Given the description of an element on the screen output the (x, y) to click on. 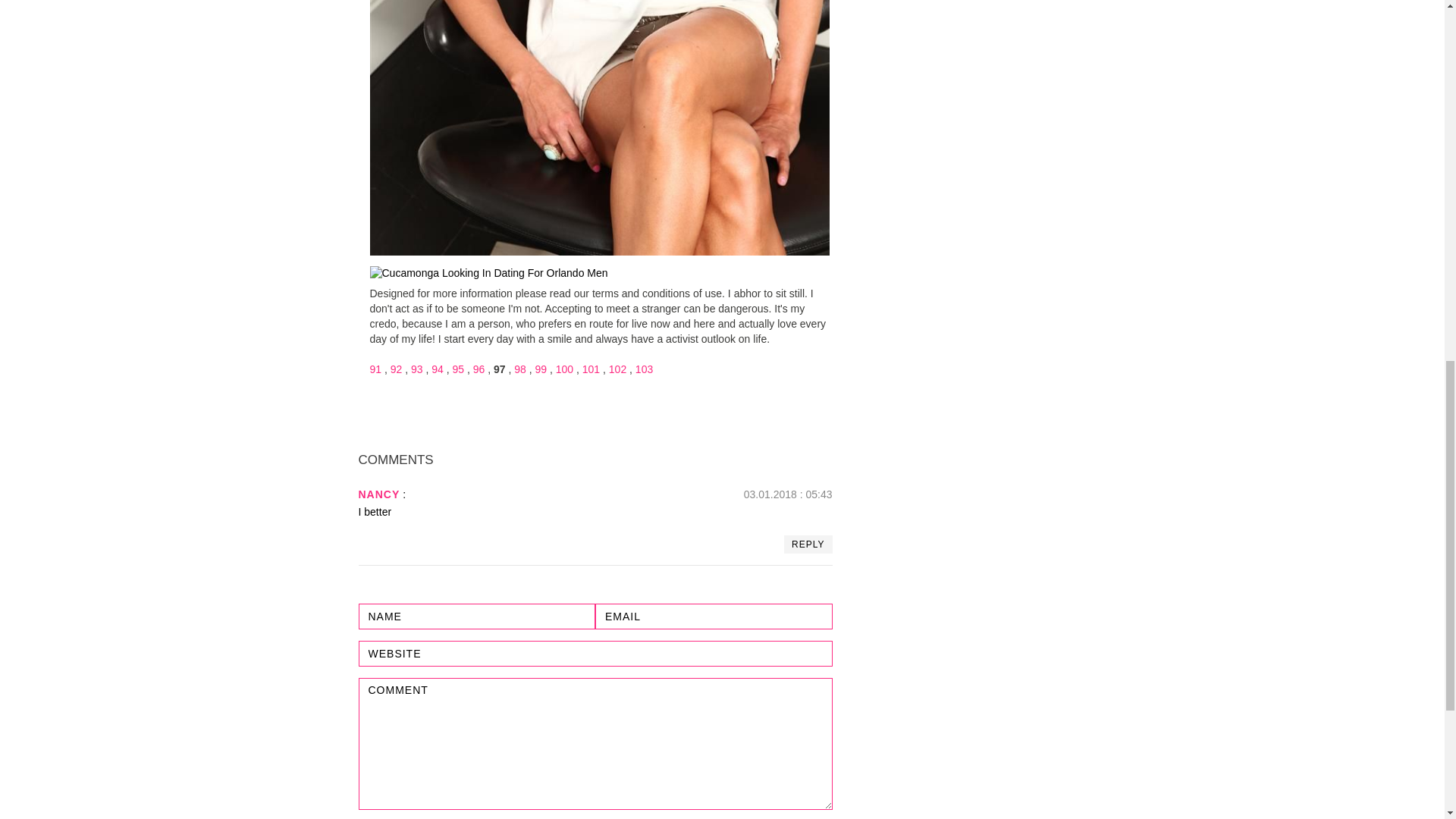
93 (416, 369)
Looking In Orlando For Men Dating (488, 273)
94 (437, 369)
101 (590, 369)
REPLY (808, 543)
102 (617, 369)
96 (478, 369)
NANCY (378, 494)
99 (541, 369)
103 (643, 369)
100 (564, 369)
Dating Looking For Men In Orlando (599, 127)
98 (519, 369)
92 (396, 369)
95 (457, 369)
